Given the description of an element on the screen output the (x, y) to click on. 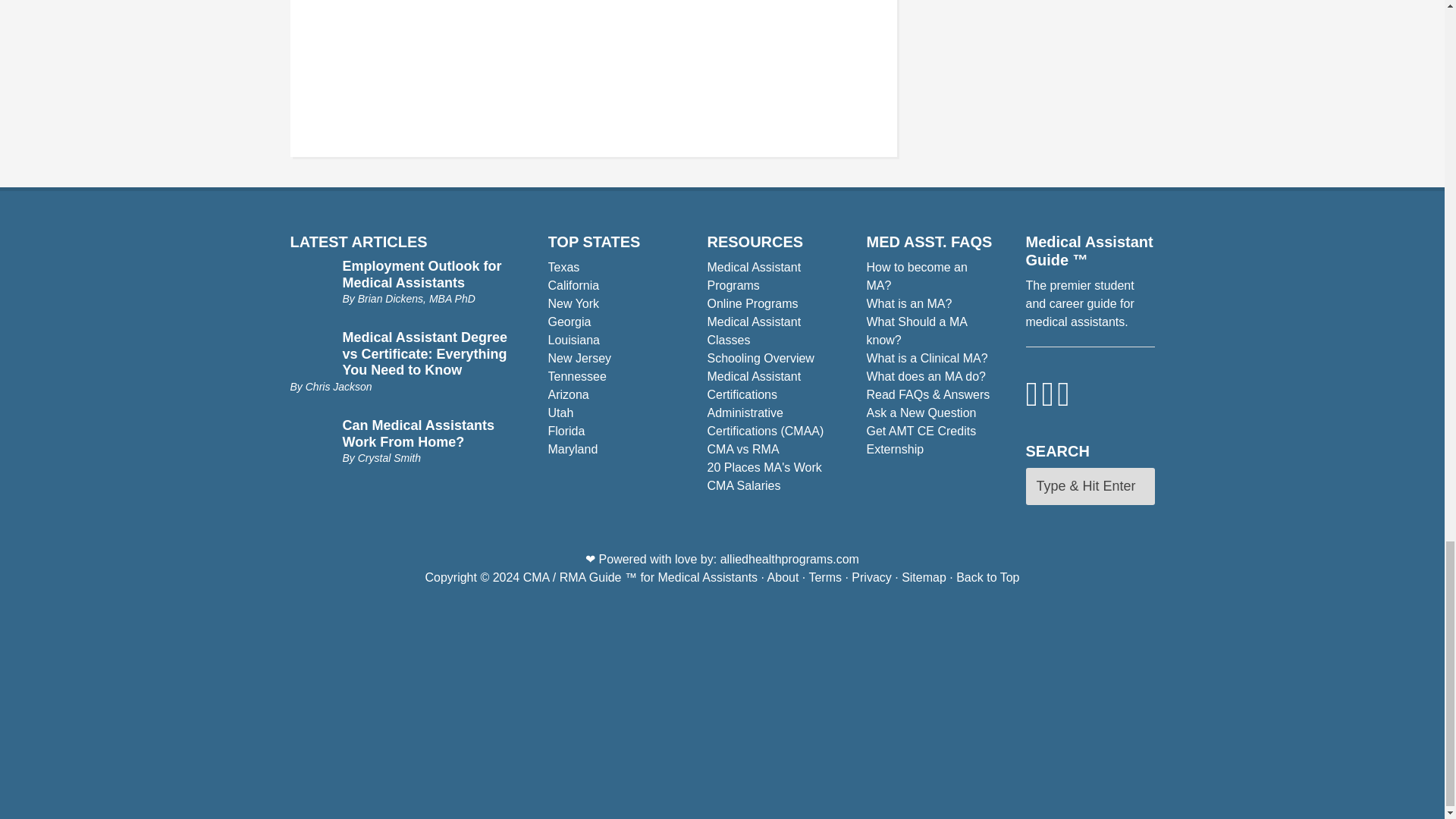
Chris Jackson (338, 386)
Can Medical Assistants Work From Home? (418, 433)
Brian Dickens, MBA PhD (417, 298)
Employment Outlook for Medical Assistants (422, 274)
